Given the description of an element on the screen output the (x, y) to click on. 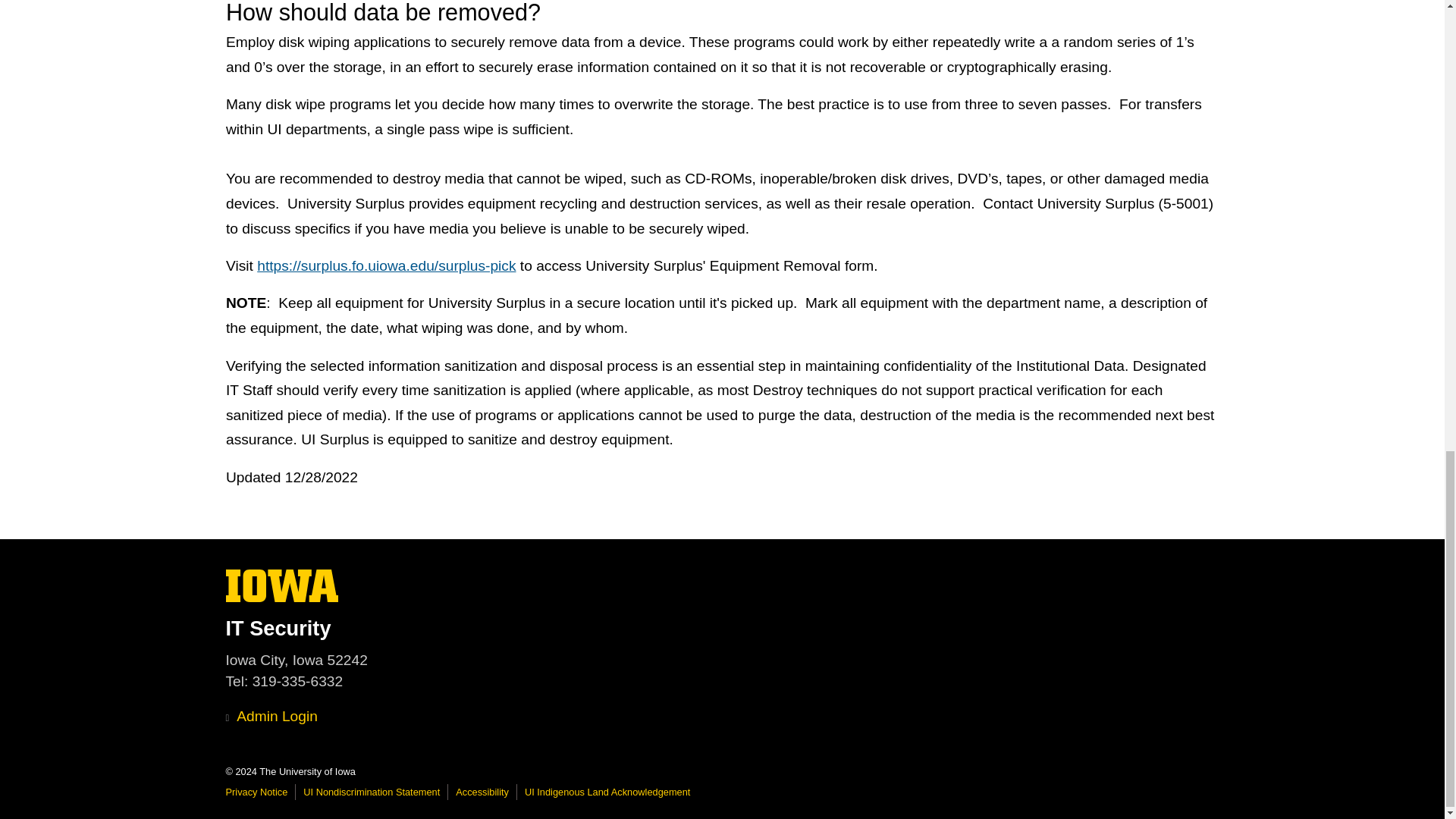
Accessibility (481, 791)
Privacy Notice (256, 791)
UI Nondiscrimination Statement (370, 791)
IT Security (282, 597)
University of Iowa (722, 628)
UI Indigenous Land Acknowledgement (282, 585)
Admin Login (607, 791)
